Given the description of an element on the screen output the (x, y) to click on. 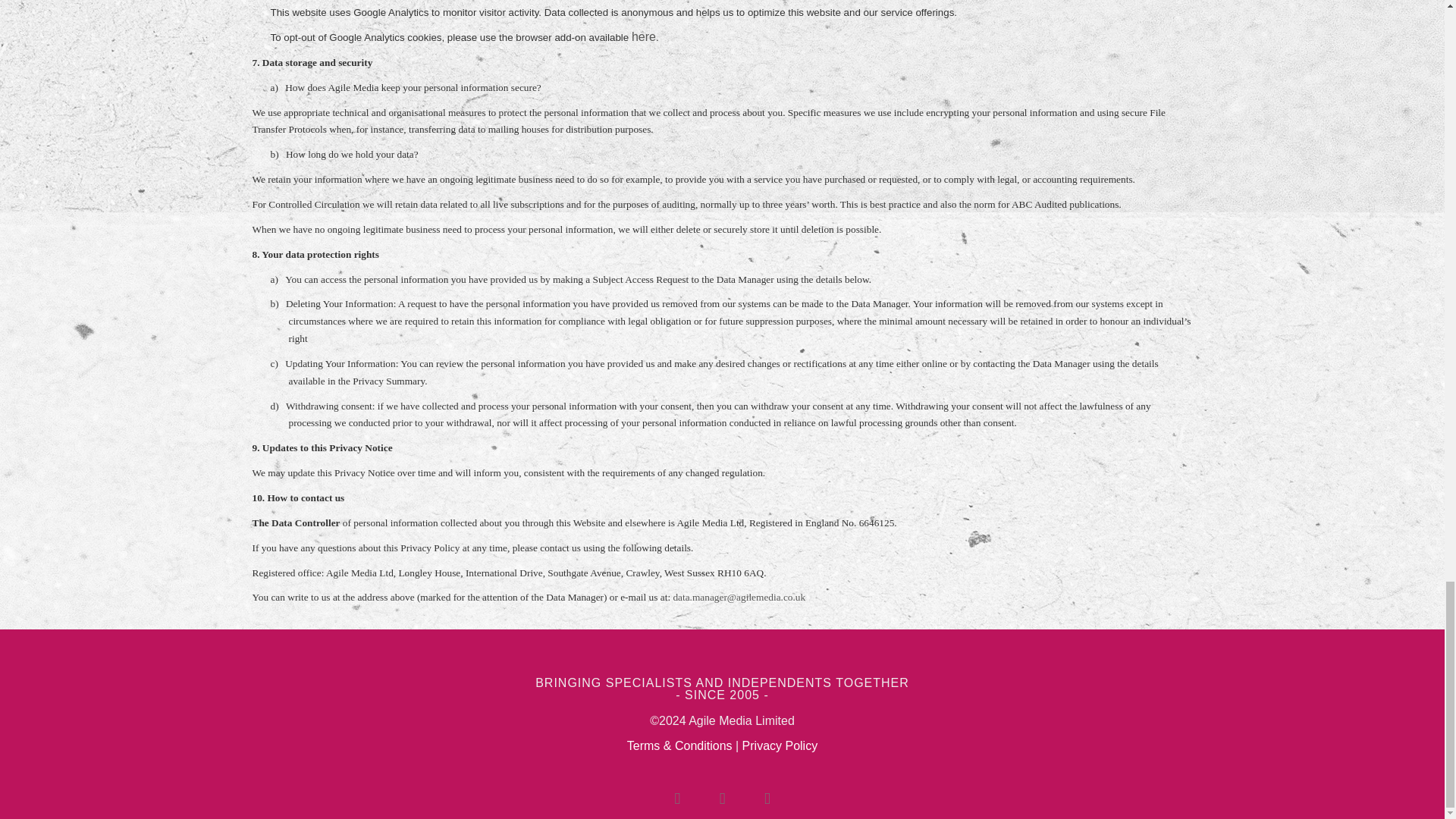
Privacy Policy (780, 745)
here (643, 36)
